Given the description of an element on the screen output the (x, y) to click on. 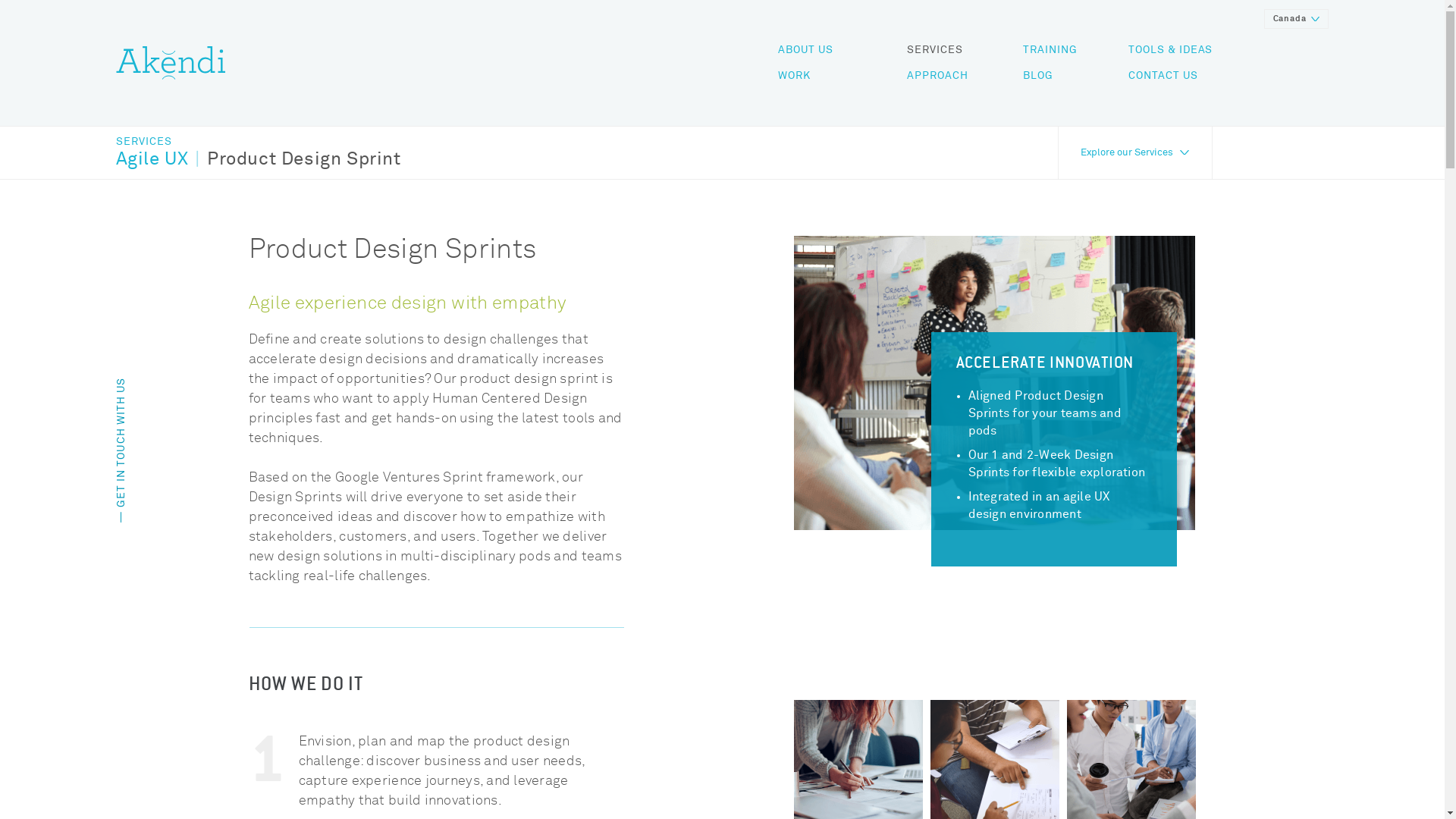
TOOLS & IDEAS Element type: text (1170, 49)
Canada Element type: text (1296, 18)
ABOUT US Element type: text (805, 49)
CONTACT US Element type: text (1163, 75)
TRAINING Element type: text (1049, 49)
SERVICES Element type: text (257, 141)
BLOG Element type: text (1037, 75)
WORK Element type: text (794, 75)
Explore our Services Element type: text (1134, 152)
APPROACH Element type: text (937, 75)
SERVICES Element type: text (934, 49)
Agile UX Element type: text (153, 159)
